Given the description of an element on the screen output the (x, y) to click on. 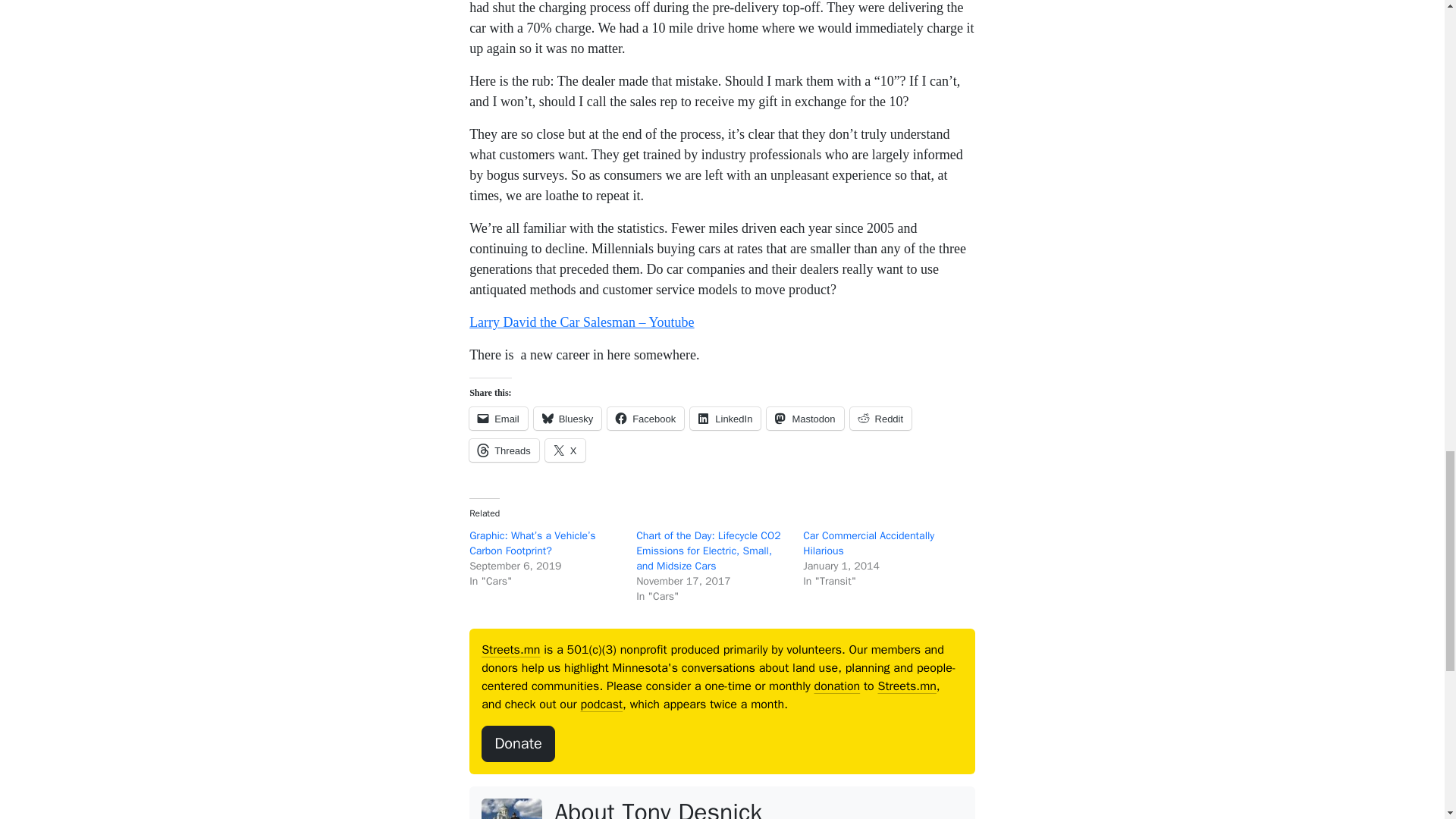
Click to share on Threads (503, 449)
Click to share on Mastodon (805, 418)
Mastodon (805, 418)
Bluesky (568, 418)
Click to share on LinkedIn (725, 418)
Click to share on Reddit (881, 418)
Click to share on Bluesky (568, 418)
Car Commercial Accidentally Hilarious (868, 543)
Click to share on X (564, 449)
Reddit (881, 418)
